Given the description of an element on the screen output the (x, y) to click on. 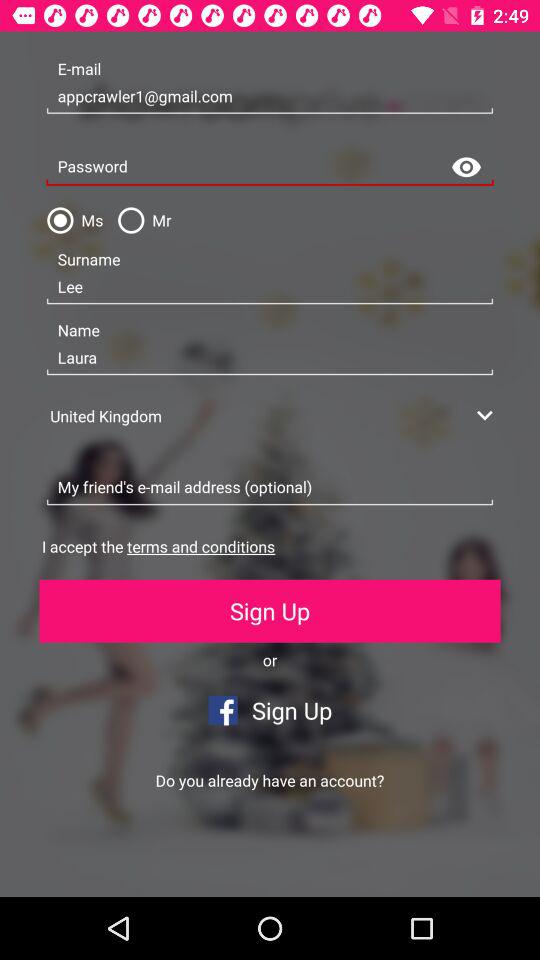
press the icon above the lee icon (140, 220)
